Given the description of an element on the screen output the (x, y) to click on. 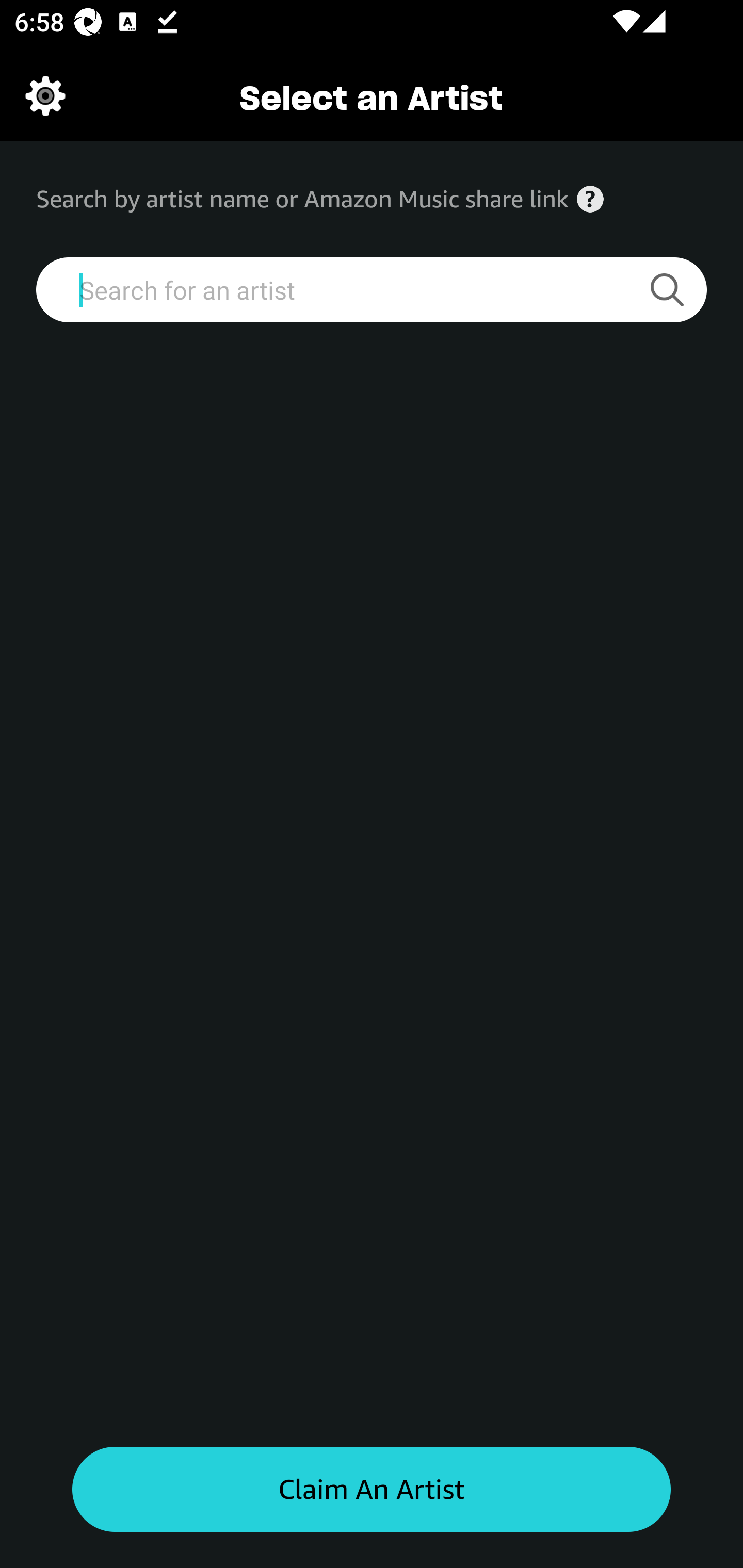
Help  icon (589, 199)
Claim an artist button Claim An Artist (371, 1489)
